Given the description of an element on the screen output the (x, y) to click on. 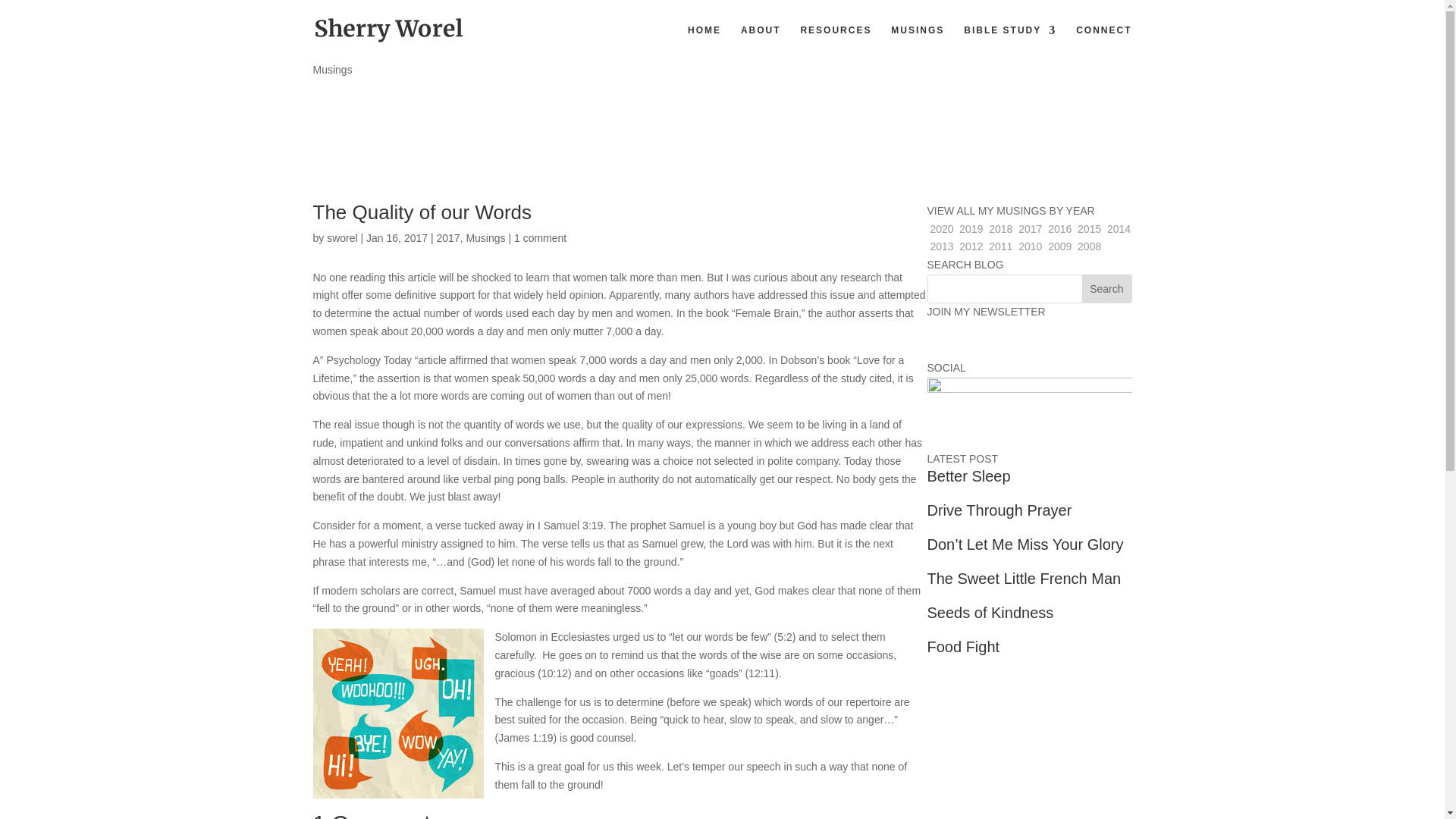
2010 (1029, 246)
Search (1106, 288)
MUSINGS (917, 42)
CONNECT (1103, 42)
2012 (970, 246)
Drive Through Prayer (998, 510)
HOME (703, 42)
facebook-banner-604x216 (1028, 414)
Musings (485, 237)
Food Fight (962, 646)
